Given the description of an element on the screen output the (x, y) to click on. 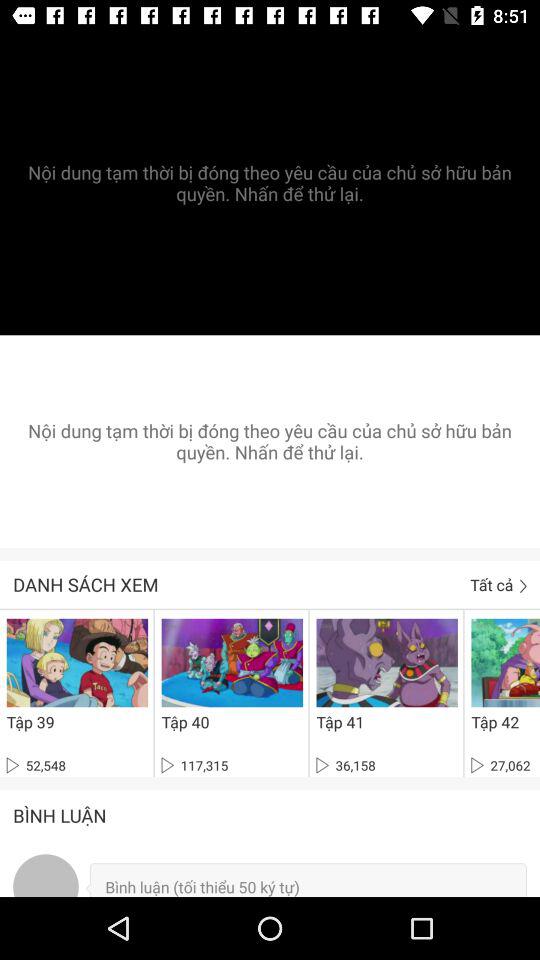
scroll to 117,315 item (194, 765)
